Given the description of an element on the screen output the (x, y) to click on. 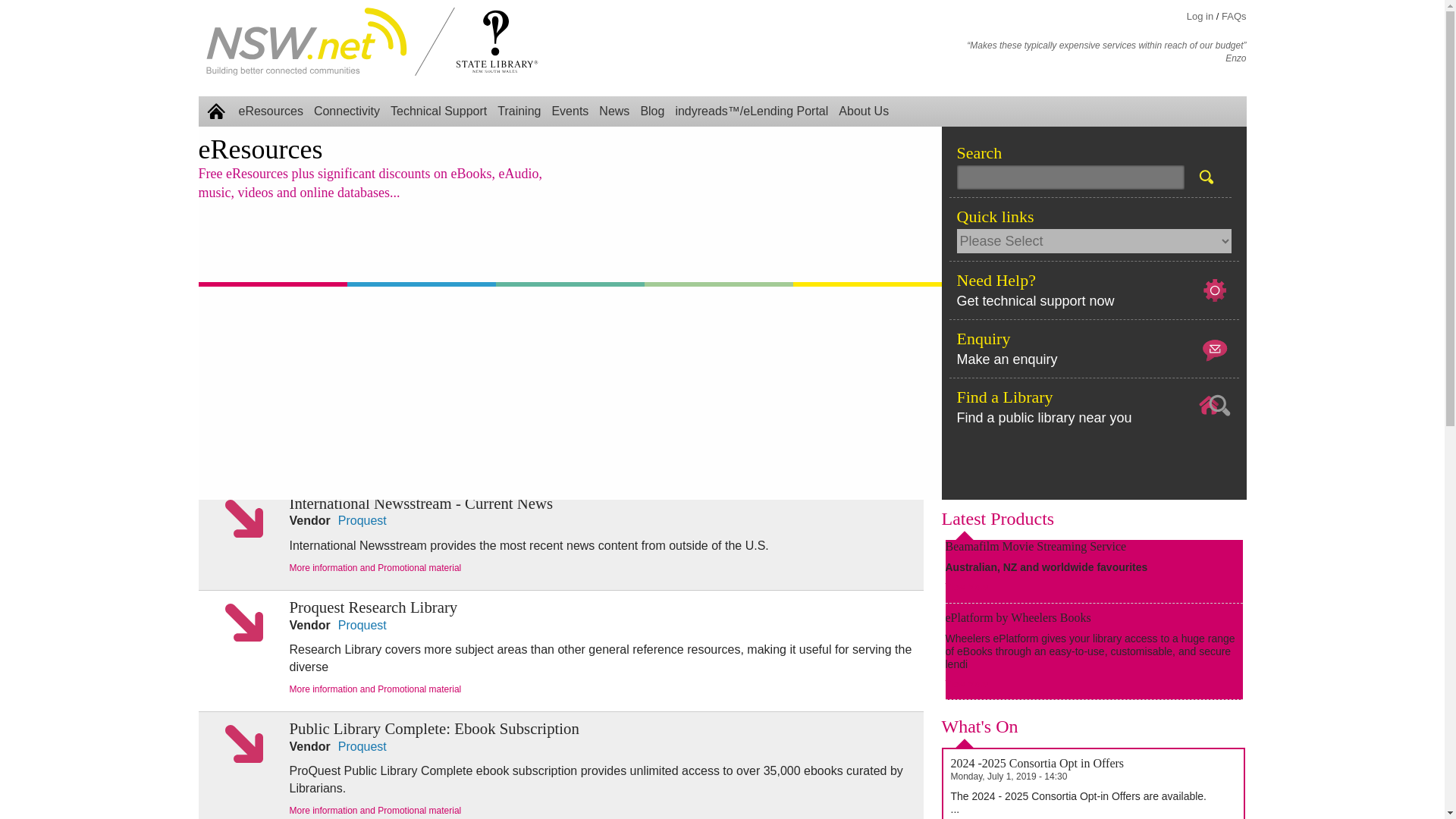
Training (519, 111)
News (614, 111)
Technical Support (438, 111)
eResources (270, 111)
Home (306, 41)
Blog (651, 111)
Events (570, 111)
Connectivity (346, 111)
Home (215, 111)
